Given the description of an element on the screen output the (x, y) to click on. 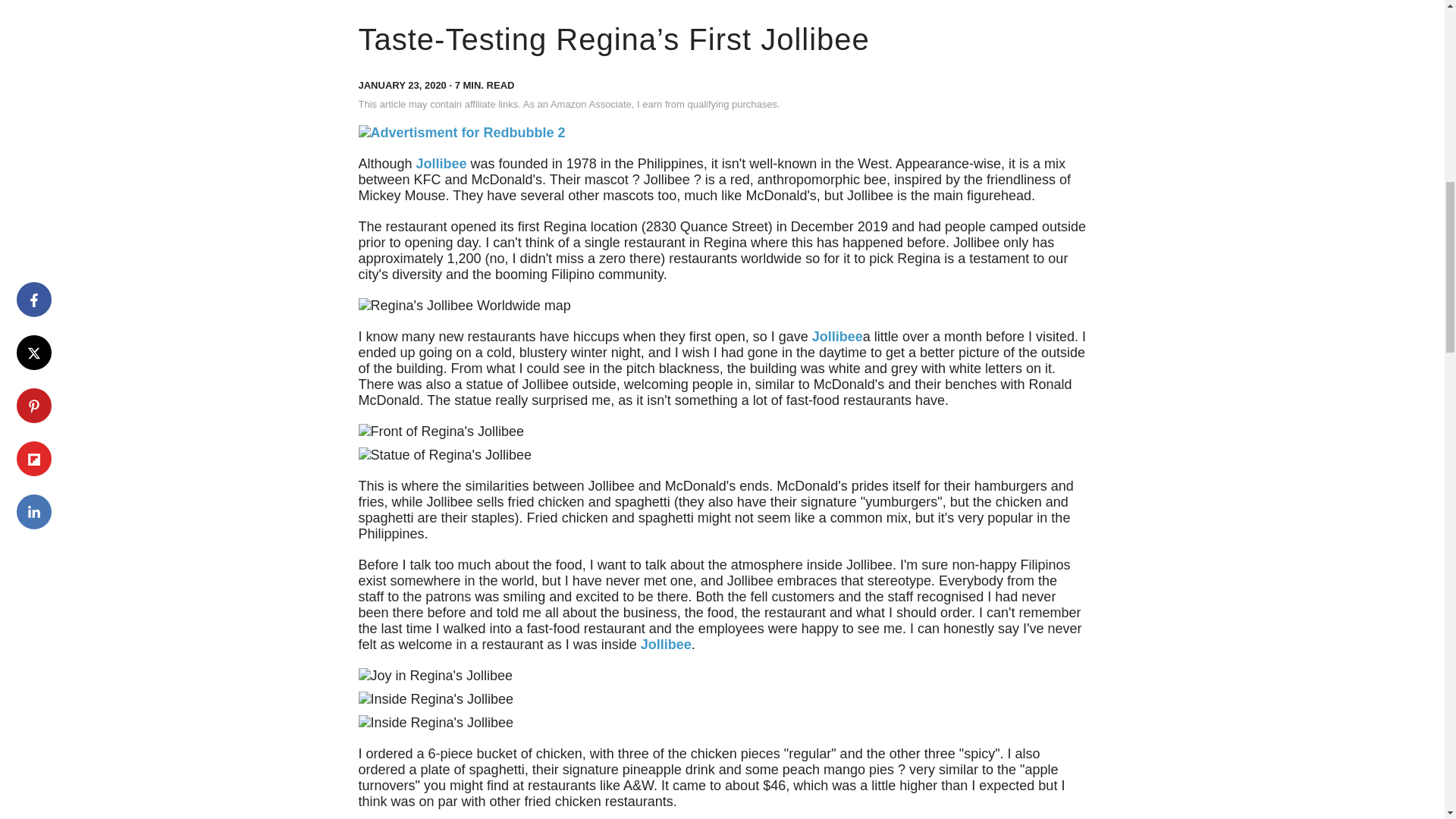
Jollibee (837, 336)
Jollibee (665, 644)
Jollibee (441, 163)
